Given the description of an element on the screen output the (x, y) to click on. 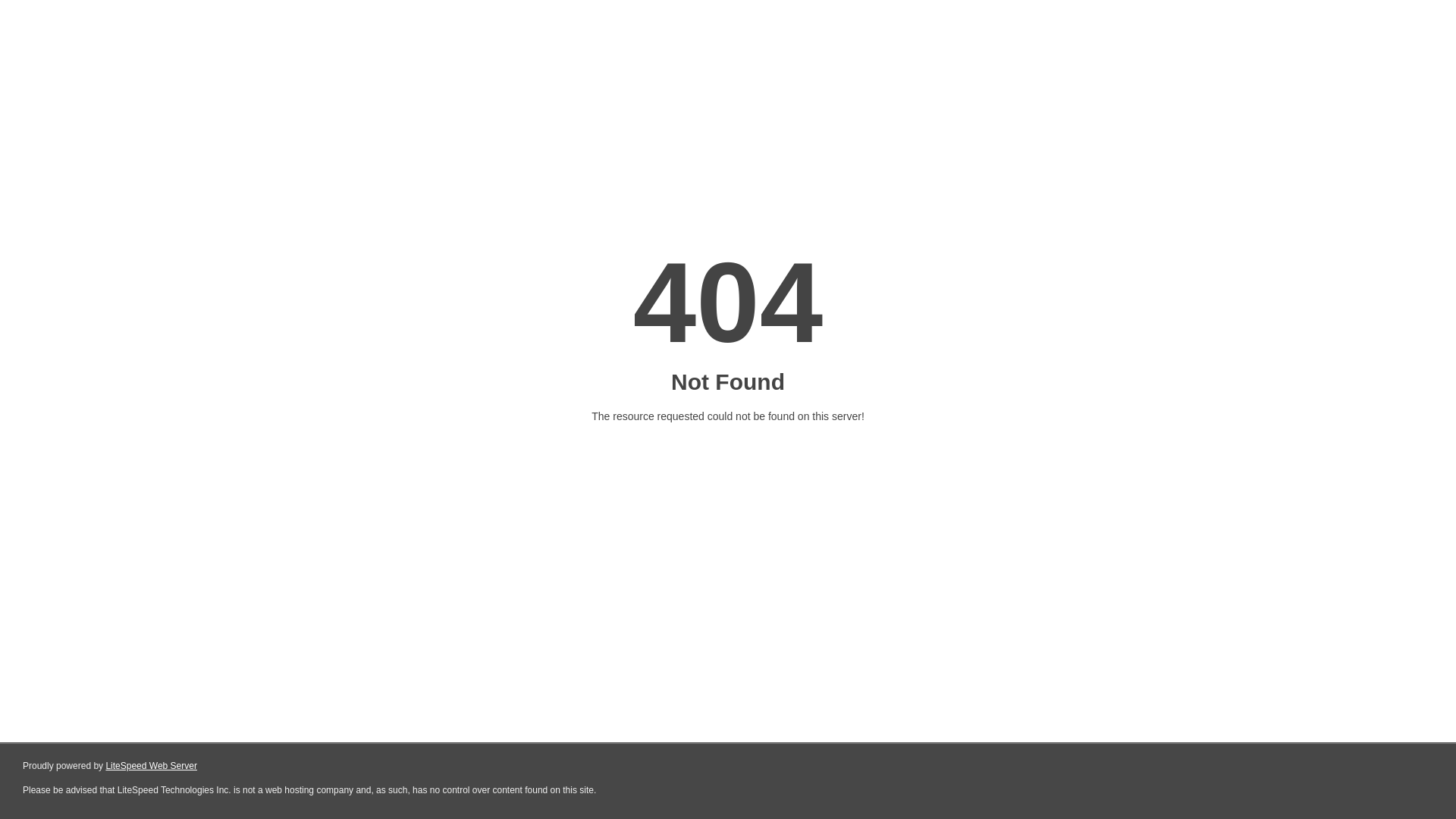
LiteSpeed Web Server Element type: text (151, 765)
